Given the description of an element on the screen output the (x, y) to click on. 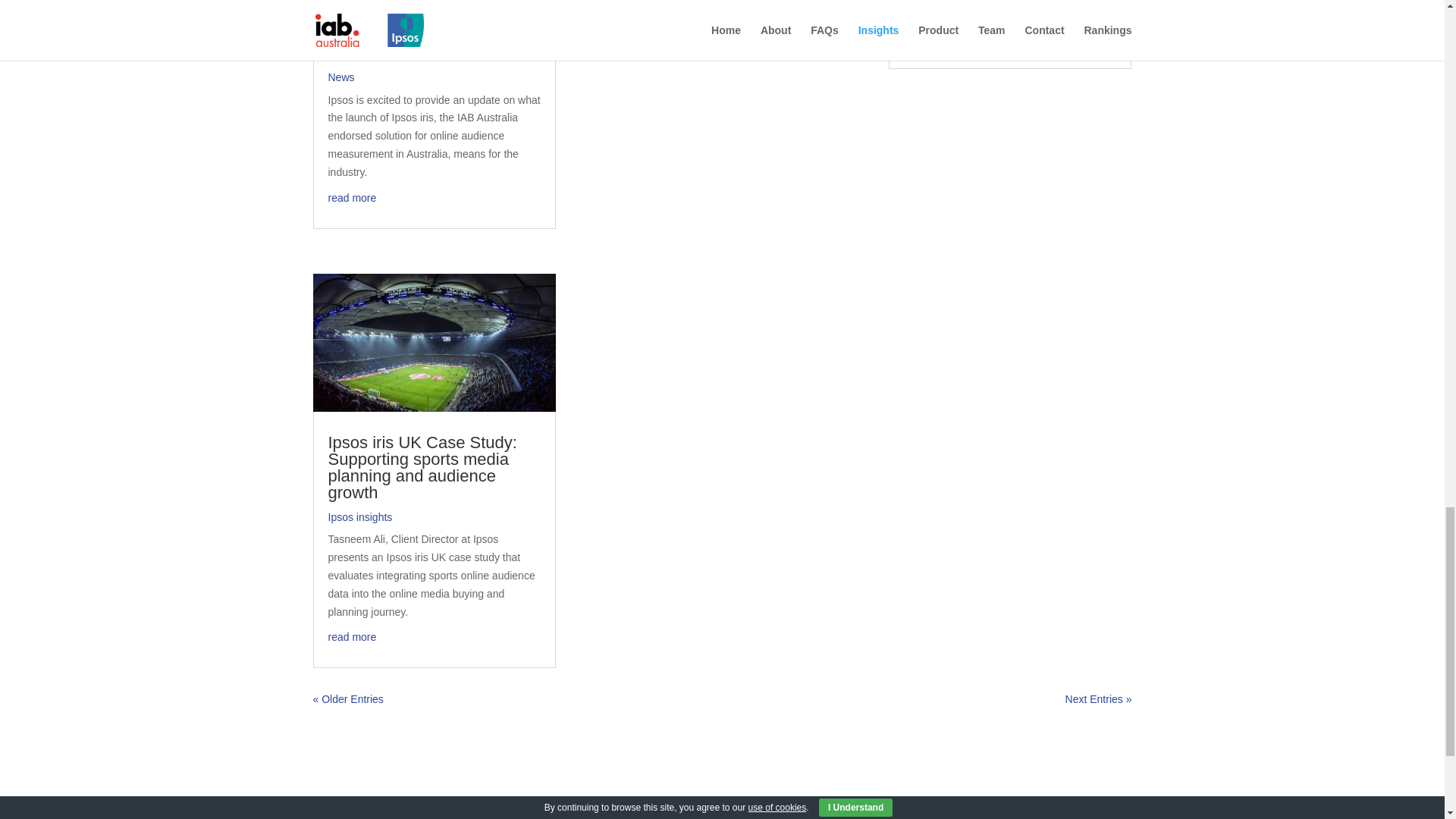
read more (351, 636)
read more (351, 197)
Ipsos insights (359, 517)
News (340, 77)
